Given the description of an element on the screen output the (x, y) to click on. 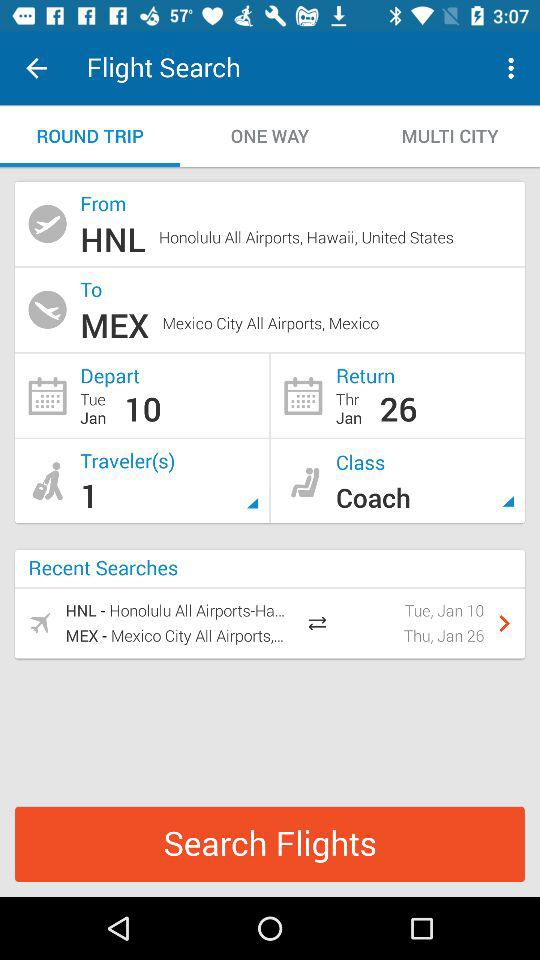
turn on the round trip item (90, 136)
